Given the description of an element on the screen output the (x, y) to click on. 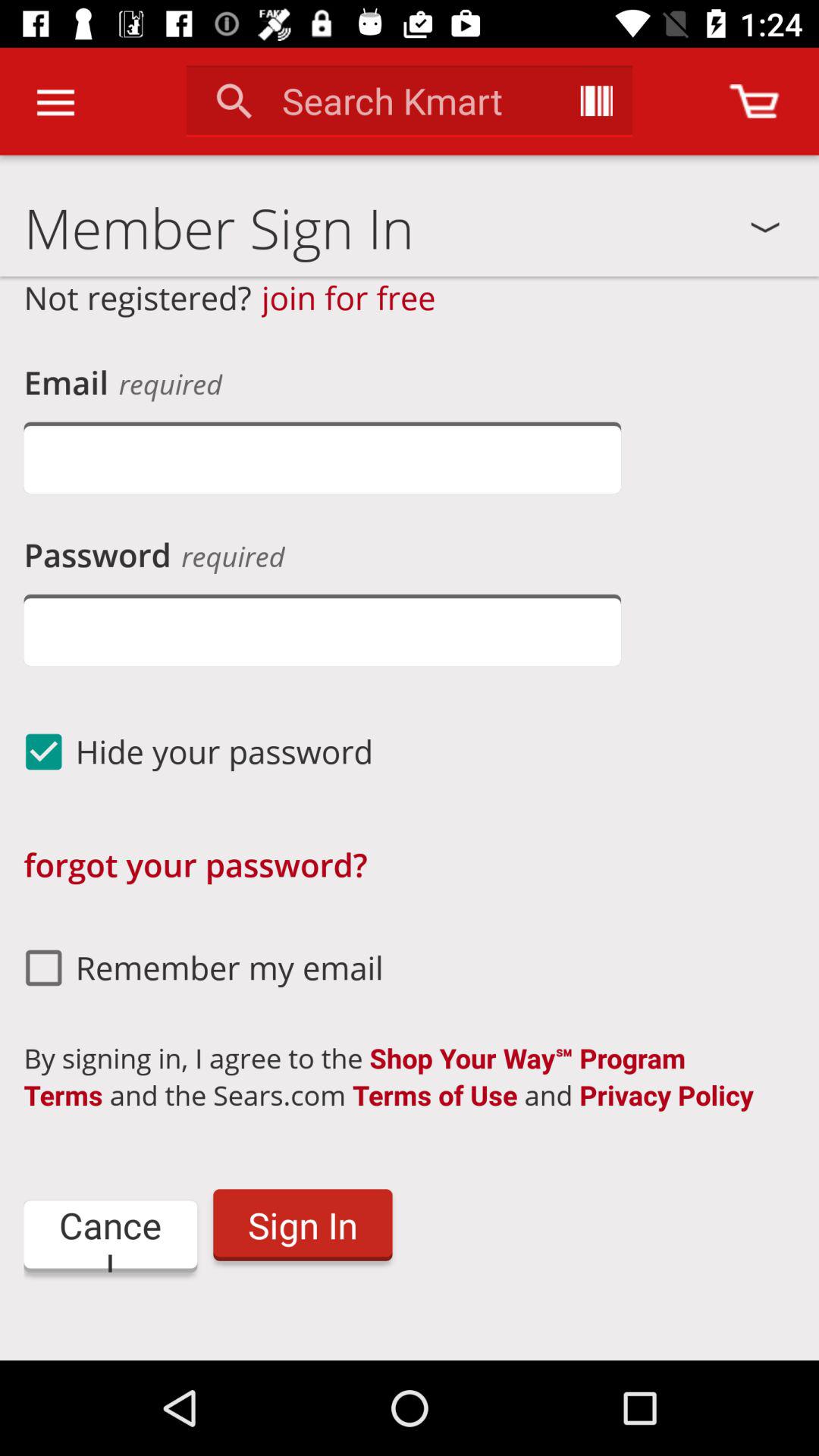
choose the icon above member sign in icon (754, 101)
